Given the description of an element on the screen output the (x, y) to click on. 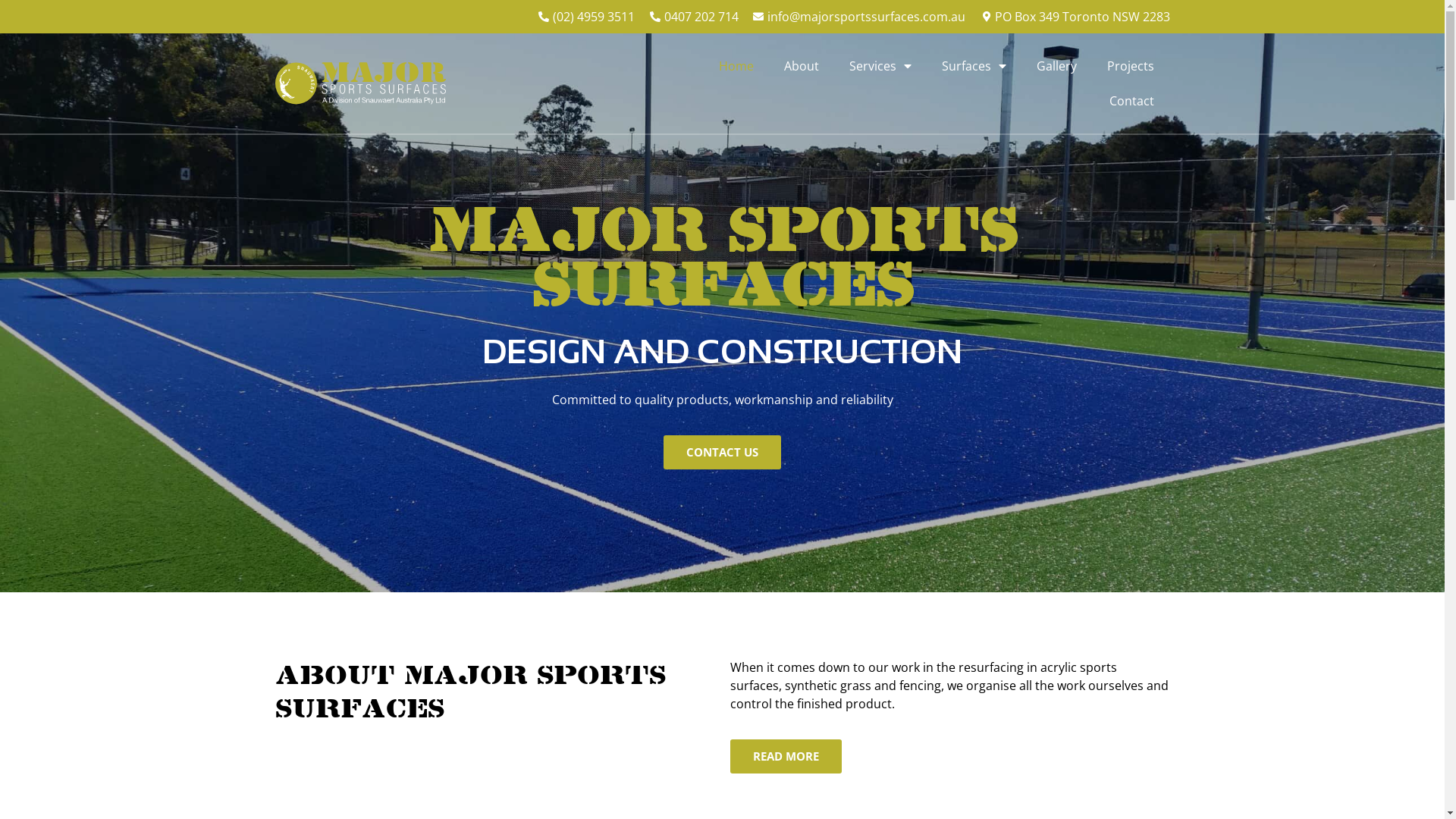
Home Element type: text (735, 65)
CONTACT US Element type: text (722, 452)
info@majorsportssurfaces.com.au Element type: text (858, 16)
0407 202 714 Element type: text (692, 16)
Services Element type: text (880, 65)
Projects Element type: text (1130, 65)
READ MORE Element type: text (785, 756)
PO Box 349 Toronto NSW 2283 Element type: text (1073, 16)
About Element type: text (801, 65)
Contact Element type: text (1131, 100)
(02) 4959 3511 Element type: text (584, 16)
Surfaces Element type: text (973, 65)
Gallery Element type: text (1056, 65)
